Given the description of an element on the screen output the (x, y) to click on. 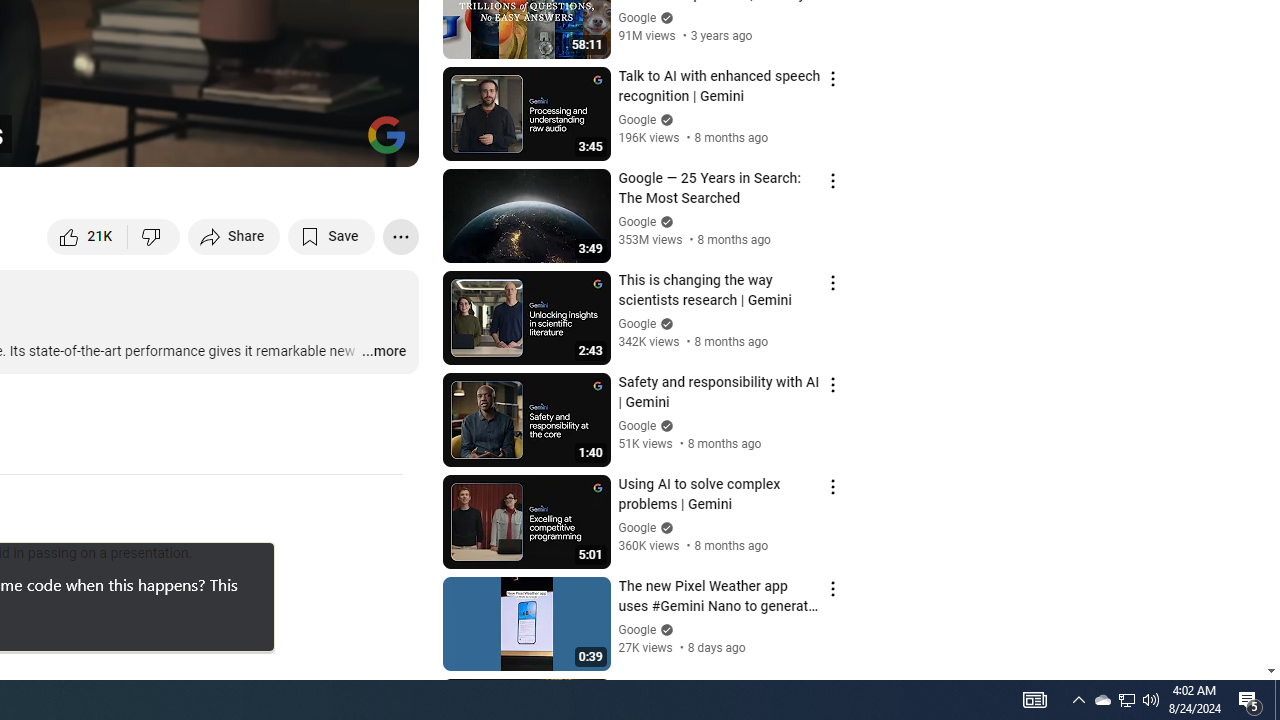
Dislike this video (154, 236)
Autoplay is on (141, 142)
like this video along with 21,118 other people (88, 236)
Full screen (f) (382, 142)
